Given the description of an element on the screen output the (x, y) to click on. 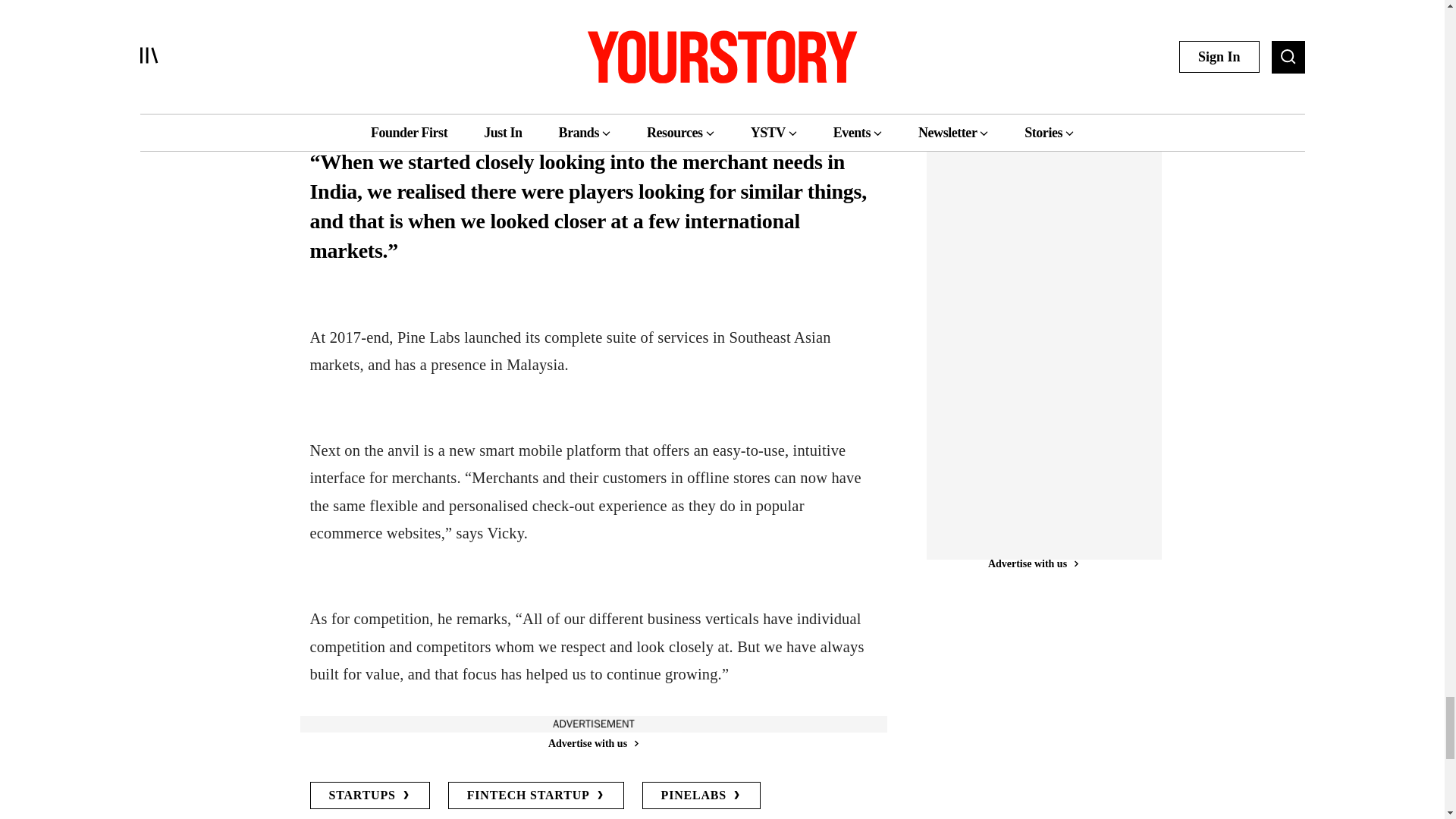
STARTUPS (368, 795)
PINELABS (701, 795)
Advertise with us (592, 743)
FINTECH STARTUP (536, 795)
